Given the description of an element on the screen output the (x, y) to click on. 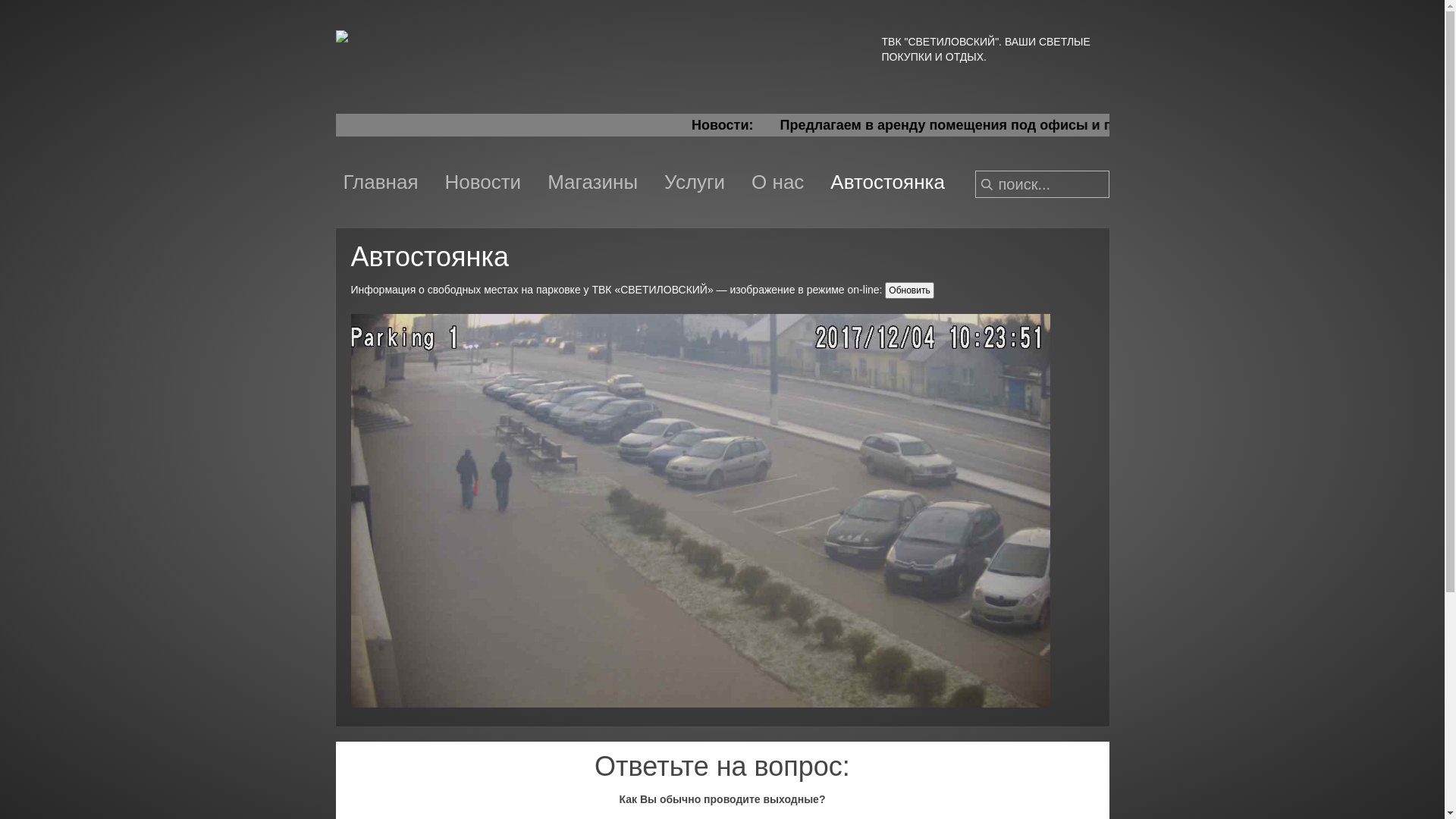
Reset Element type: text (3, 3)
